Given the description of an element on the screen output the (x, y) to click on. 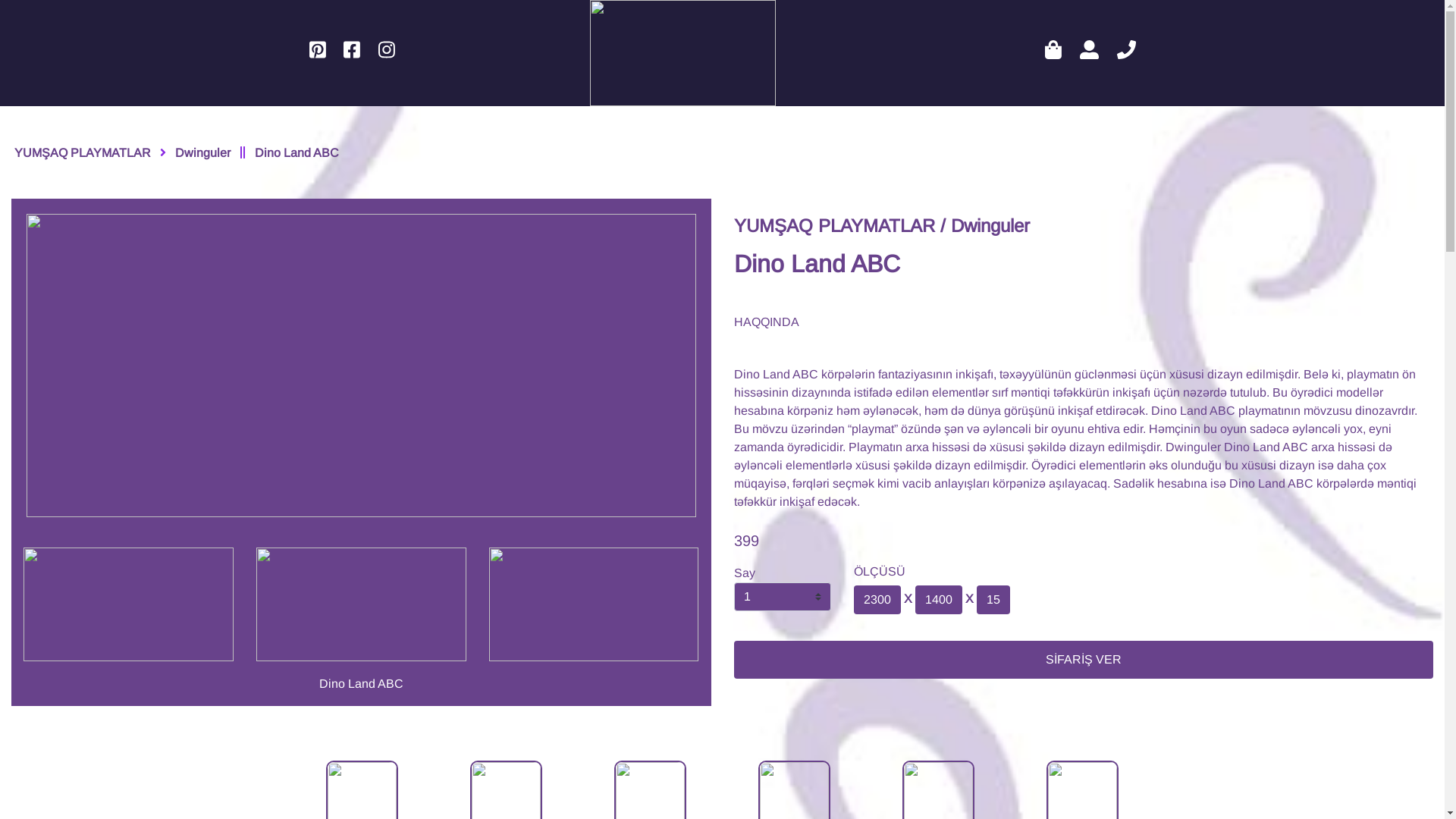
2300 Element type: text (876, 599)
1400 Element type: text (938, 599)
15 Element type: text (993, 599)
Dino Land ABC Element type: text (296, 134)
Dwinguler Element type: text (202, 134)
